Given the description of an element on the screen output the (x, y) to click on. 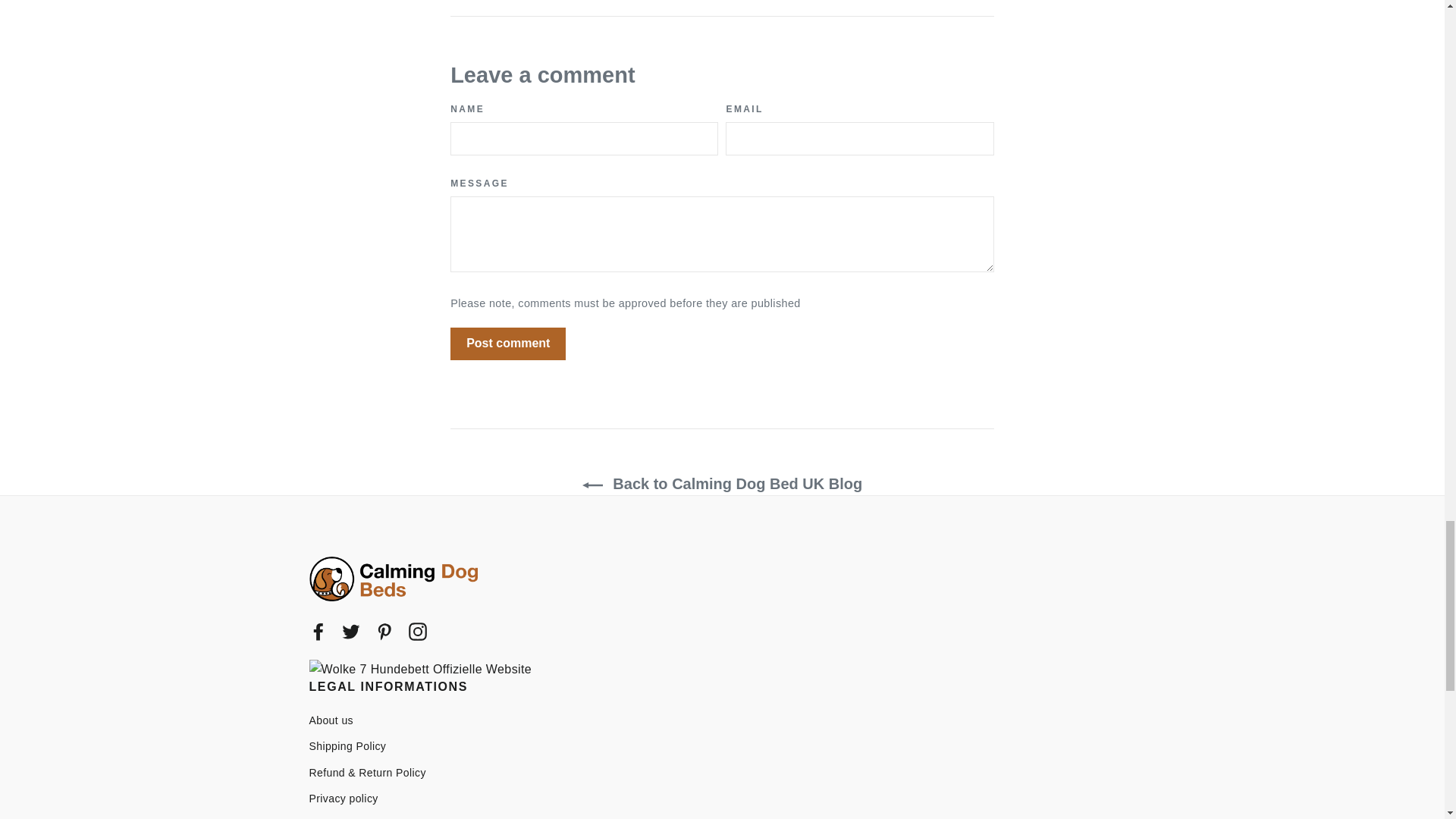
About us (721, 720)
Twitter (350, 630)
Calming Dog Beds UK on Facebook (317, 630)
Calming Dog Beds UK on Instagram (417, 630)
Calming Dog Beds UK on Pinterest (384, 630)
Back to Calming Dog Bed UK Blog (721, 483)
Pinterest (384, 630)
Calming Dog Beds UK on Twitter (350, 630)
Facebook (317, 630)
Instagram (417, 630)
Post comment (507, 343)
Shipping Policy (721, 745)
Post comment (507, 343)
Wolke 7 Hundebett Offizielle Website (420, 669)
